Given the description of an element on the screen output the (x, y) to click on. 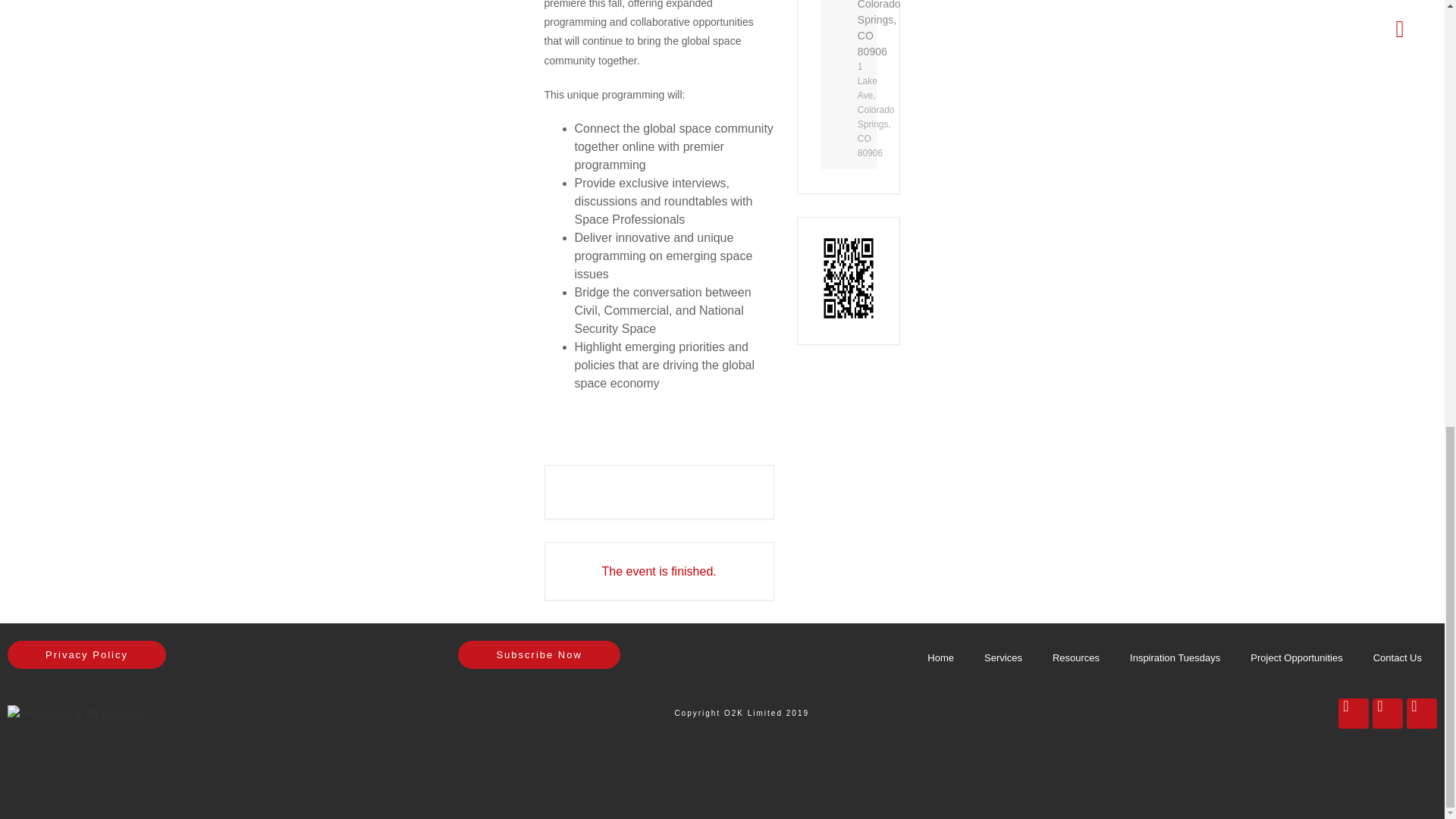
Resources (1075, 657)
Privacy Policy (86, 654)
Project Opportunities (1295, 657)
Services (1002, 657)
Home (940, 657)
Subscribe Now (539, 654)
Contact Us (1397, 657)
Inspiration Tuesdays (1174, 657)
